Given the description of an element on the screen output the (x, y) to click on. 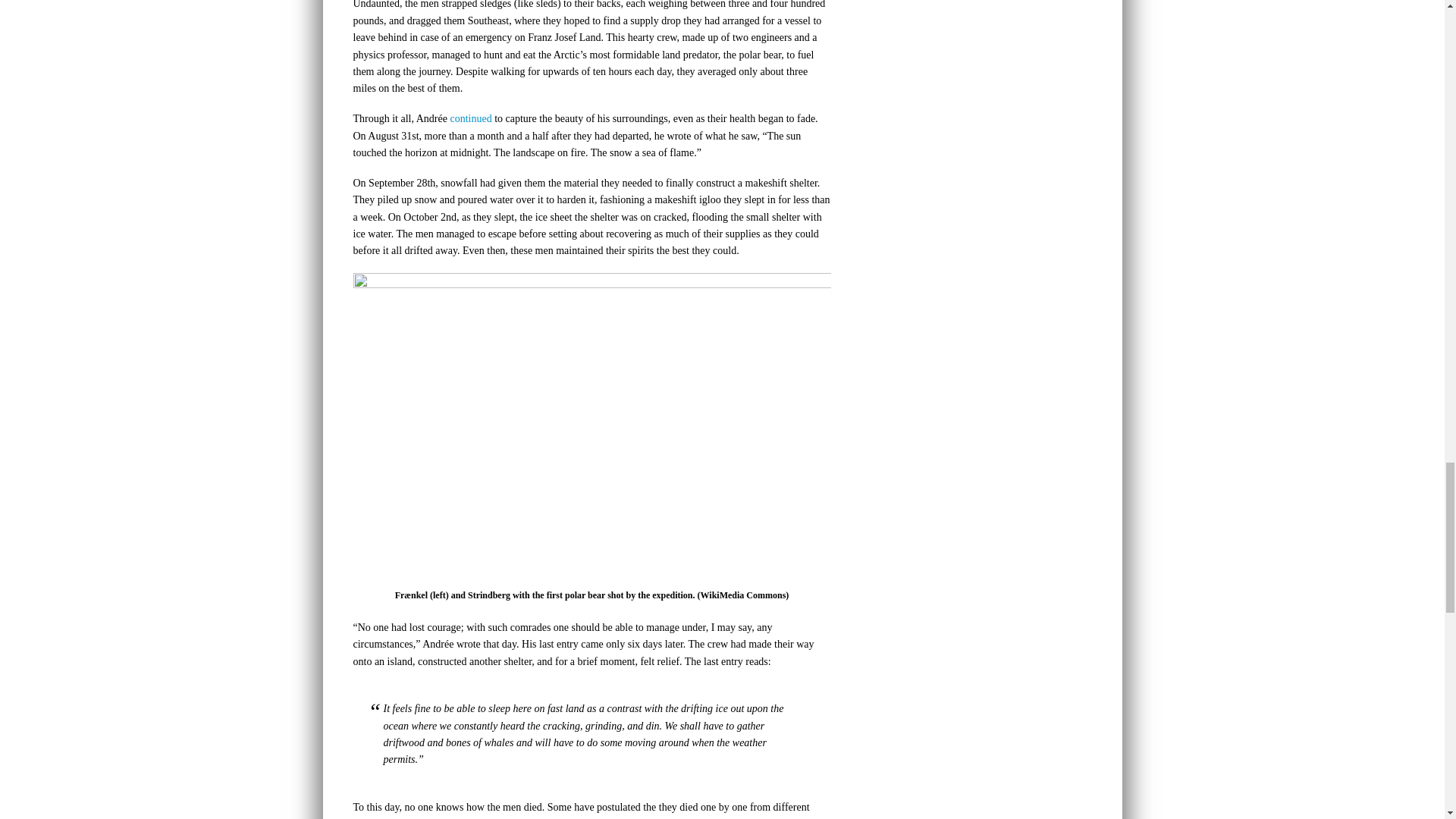
continued (470, 118)
